Given the description of an element on the screen output the (x, y) to click on. 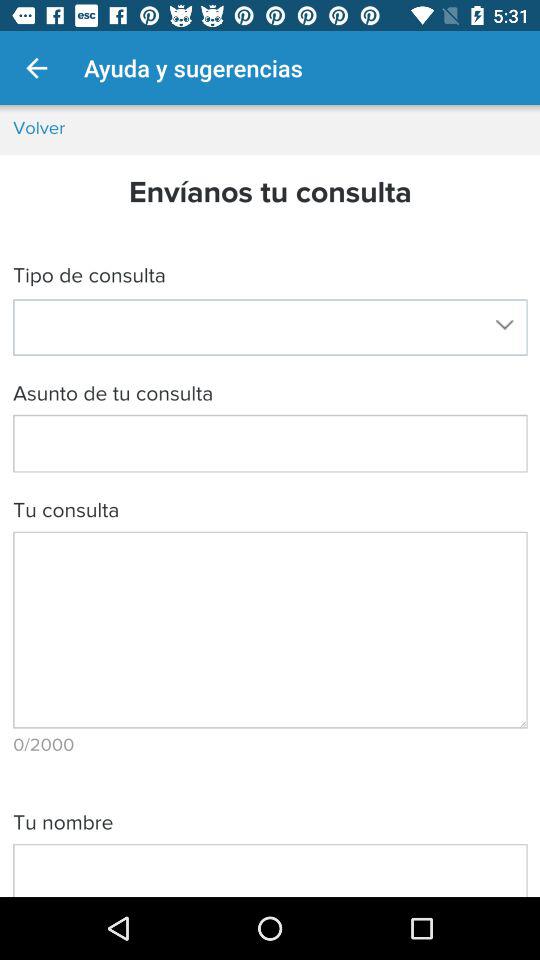
space to fill consulting information (270, 501)
